Given the description of an element on the screen output the (x, y) to click on. 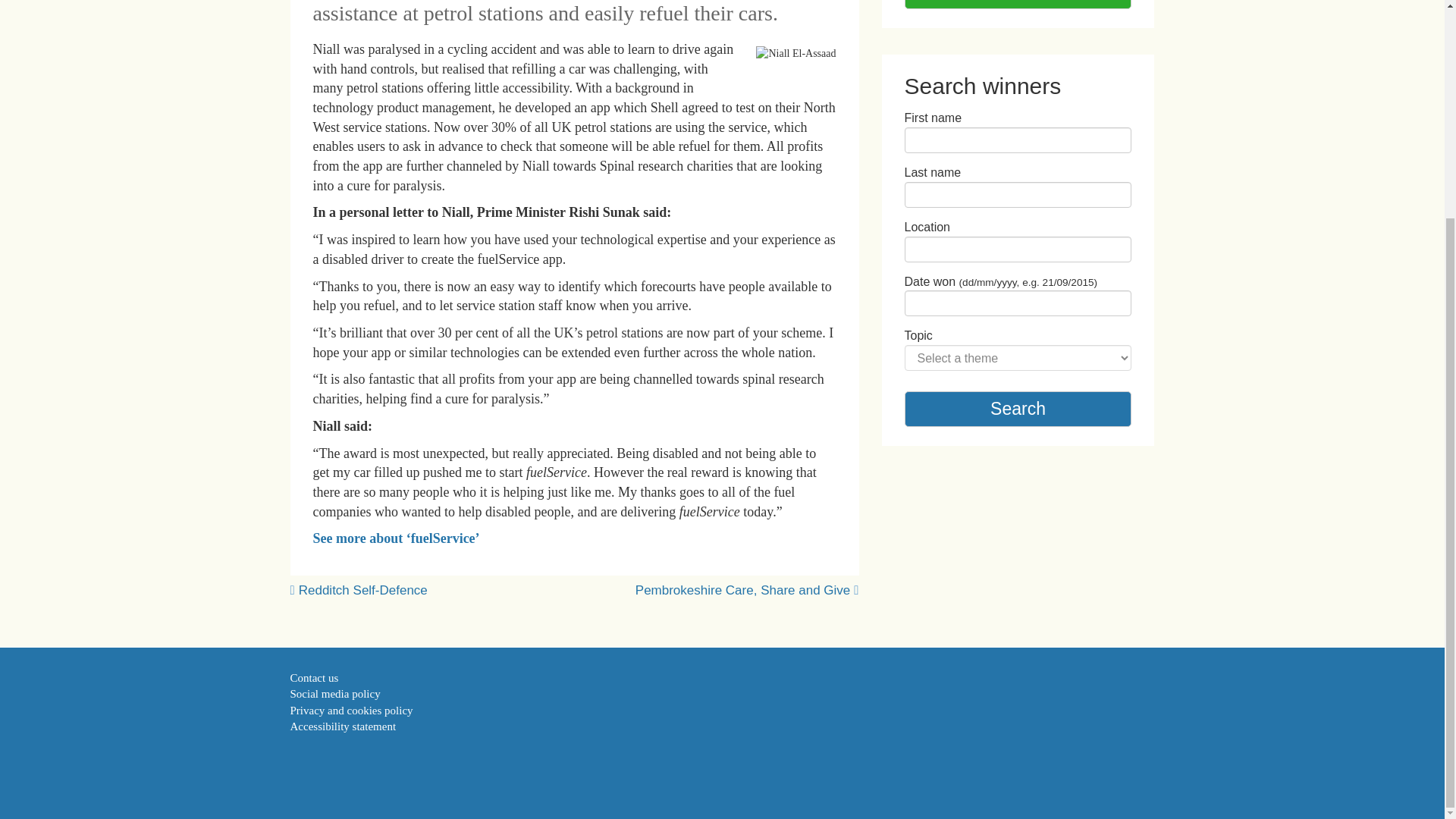
Contact us (313, 677)
Accessibility statement (342, 726)
Social media policy (334, 693)
Privacy and cookies policy (350, 710)
Redditch Self-Defence (363, 590)
Volunteer now (1017, 4)
Search (1017, 408)
Search (1017, 408)
Pembrokeshire Care, Share and Give (742, 590)
